Given the description of an element on the screen output the (x, y) to click on. 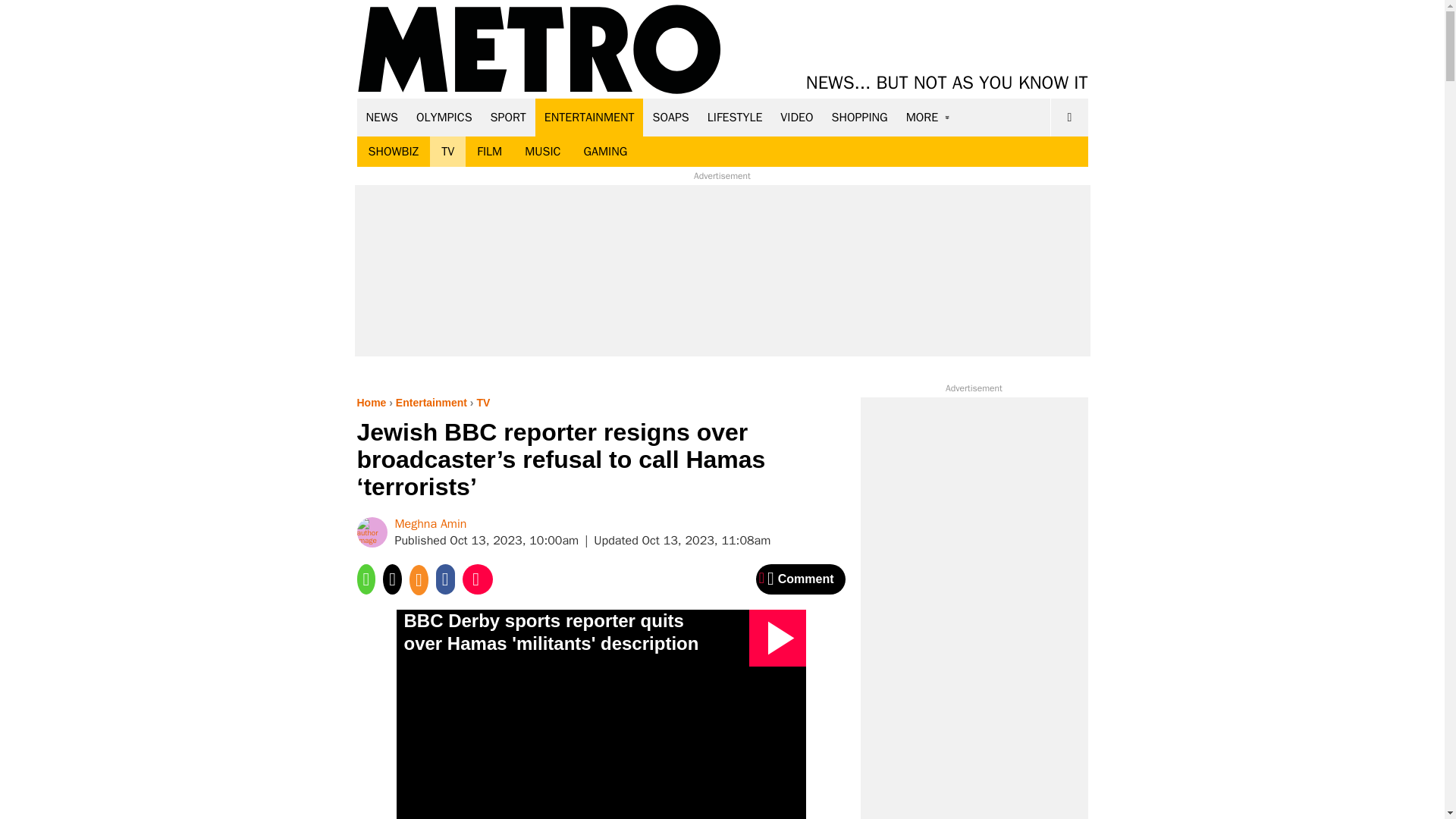
FILM (489, 151)
Metro (539, 50)
SOAPS (670, 117)
TV (447, 151)
SPORT (508, 117)
MUSIC (542, 151)
GAMING (605, 151)
Play Video (777, 637)
SHOWBIZ (392, 151)
ENTERTAINMENT (589, 117)
NEWS (381, 117)
LIFESTYLE (734, 117)
OLYMPICS (444, 117)
